Given the description of an element on the screen output the (x, y) to click on. 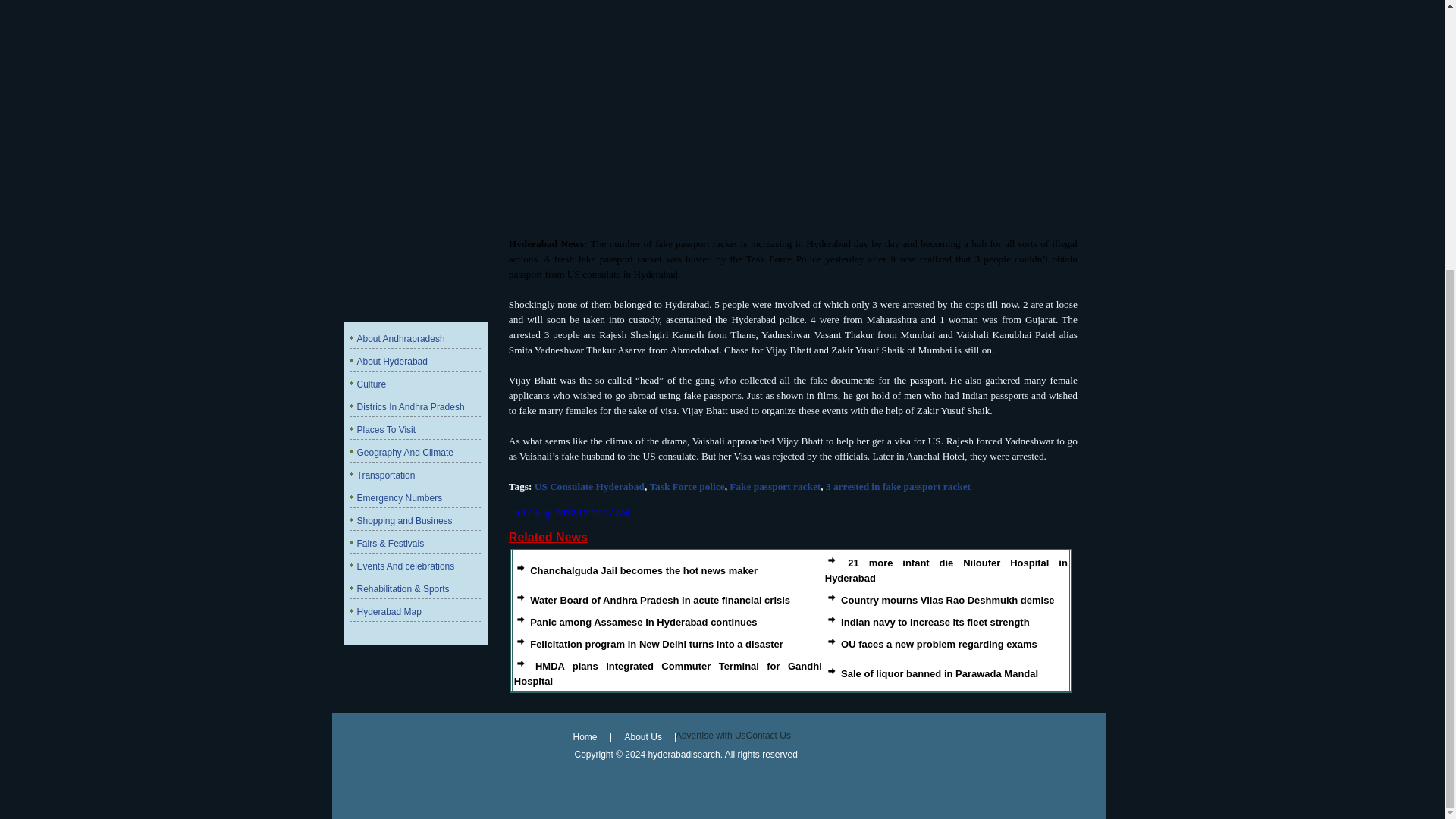
About Andhrapradesh (400, 338)
Geography And Climate (404, 452)
Districs In Andhra Pradesh (410, 407)
About Hyderabad (391, 361)
Shopping and Business (403, 520)
Places To Visit (385, 429)
Hyderabad Map (388, 611)
Transportation (385, 475)
Culture (370, 384)
Events And celebrations (405, 566)
Emergency Numbers (399, 498)
